Given the description of an element on the screen output the (x, y) to click on. 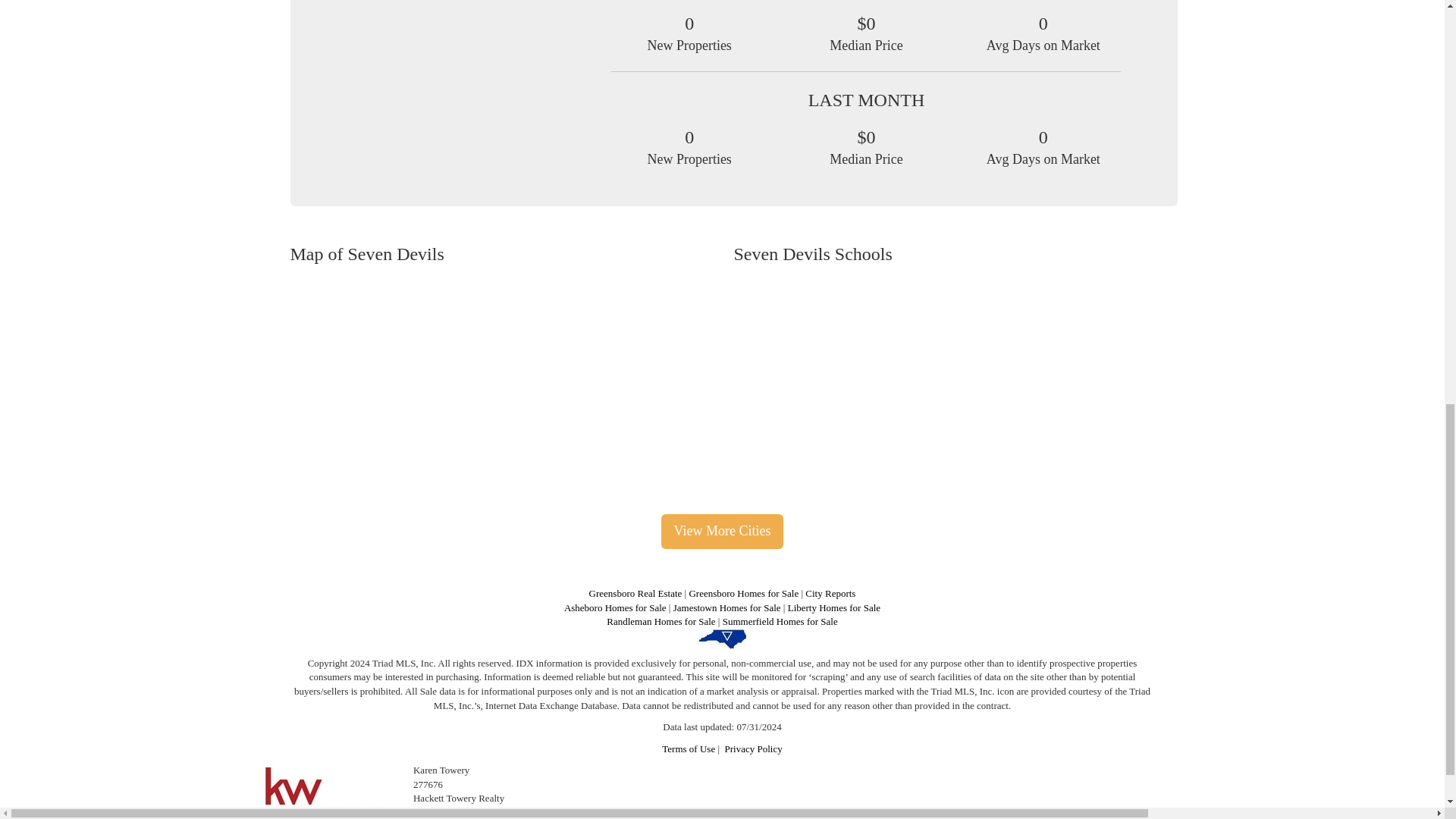
Jamestown Homes for Sale (726, 607)
Greensboro Homes for Sale (742, 593)
Asheboro Homes for Sale (615, 607)
View More Cities (722, 531)
Greensboro Real Estate (635, 593)
Terms of Use (688, 748)
Summerfield Homes for Sale (780, 621)
City Reports (830, 593)
Liberty Homes for Sale (833, 607)
Randleman Homes for Sale (660, 621)
Privacy Policy (754, 748)
